Given the description of an element on the screen output the (x, y) to click on. 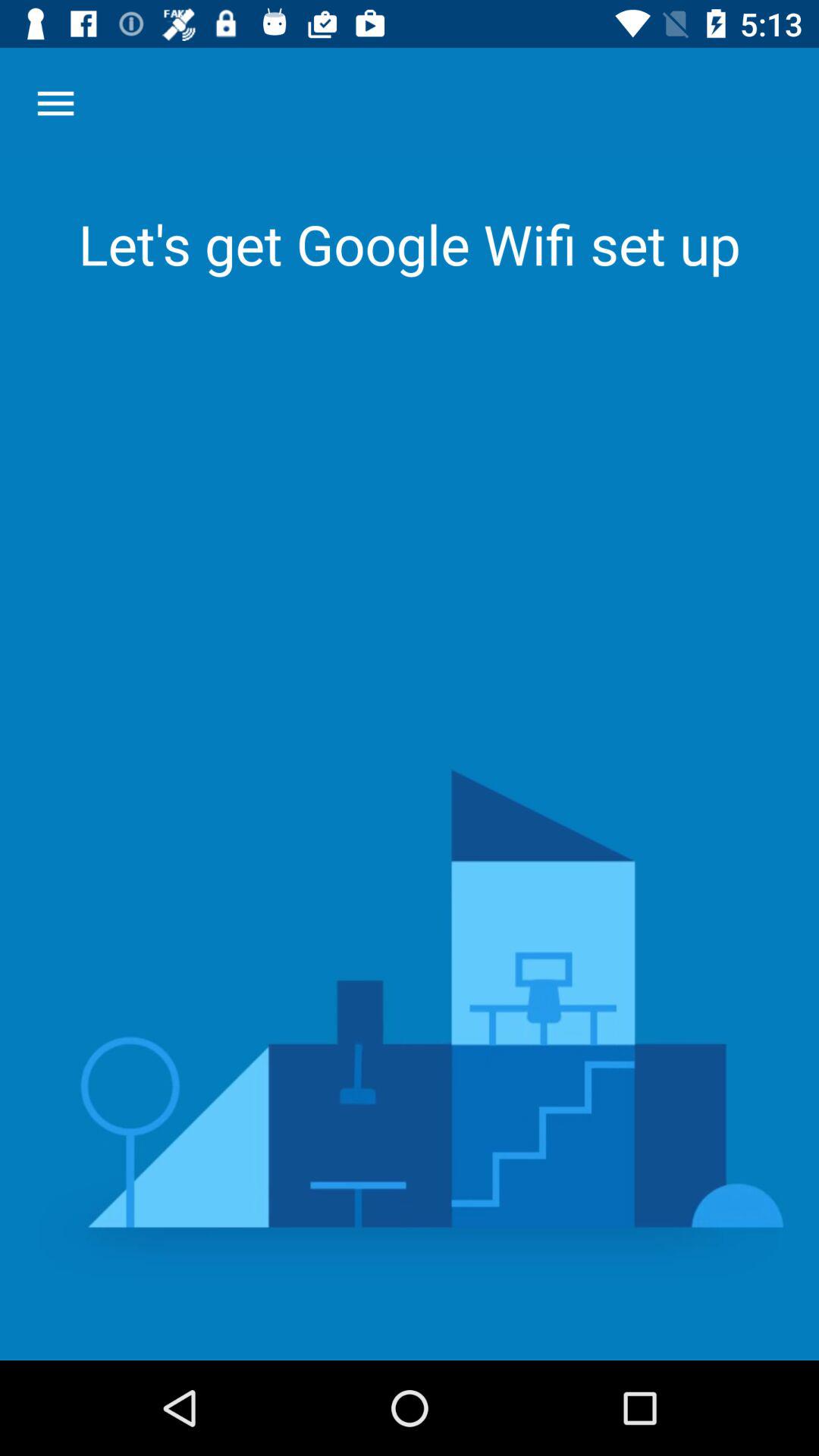
select icon at the top left corner (55, 103)
